Given the description of an element on the screen output the (x, y) to click on. 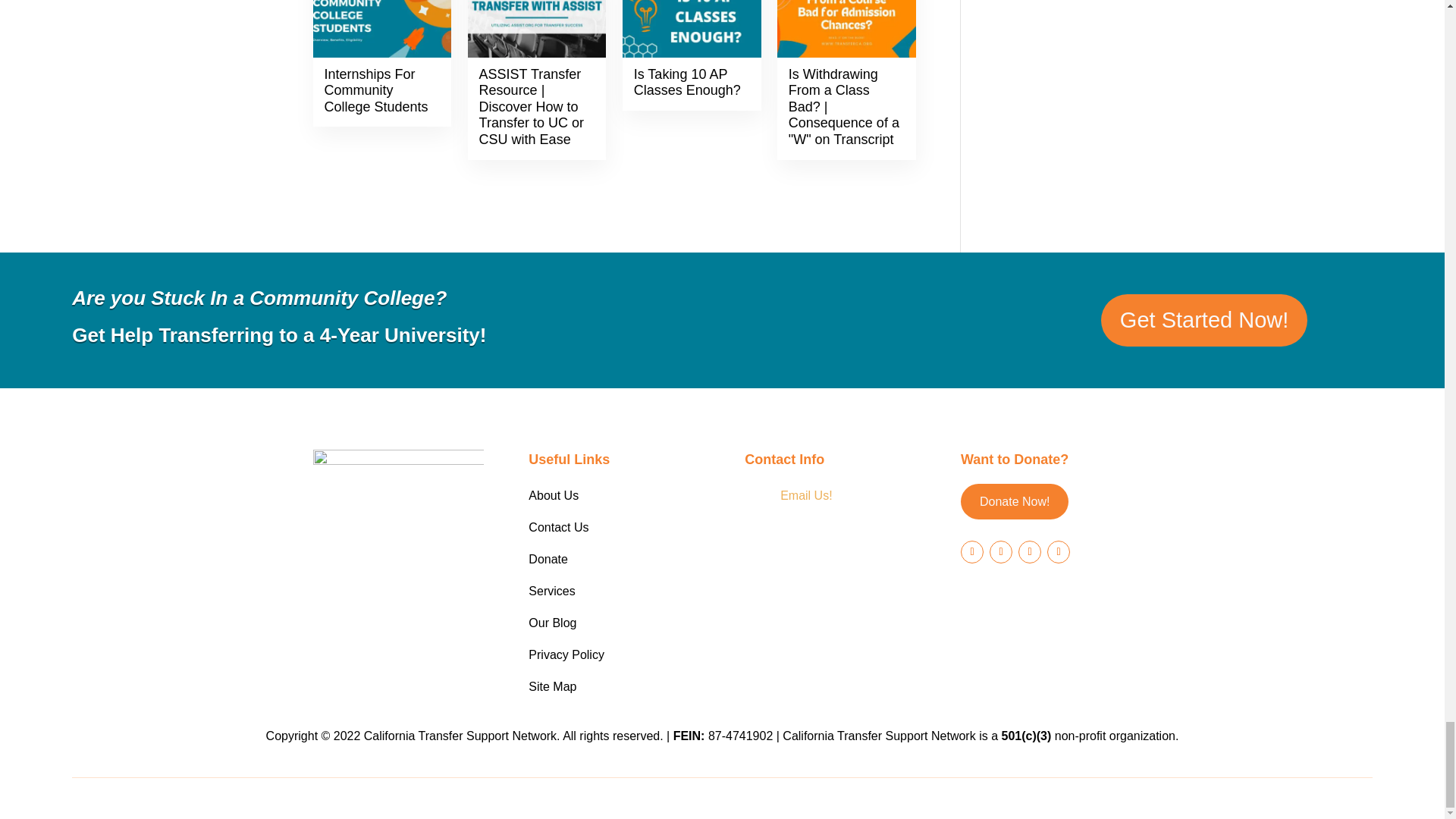
logo (398, 513)
Follow on LinkedIn (1058, 550)
Follow on Instagram (1029, 550)
Follow on X (1000, 550)
Follow on Facebook (972, 550)
